Given the description of an element on the screen output the (x, y) to click on. 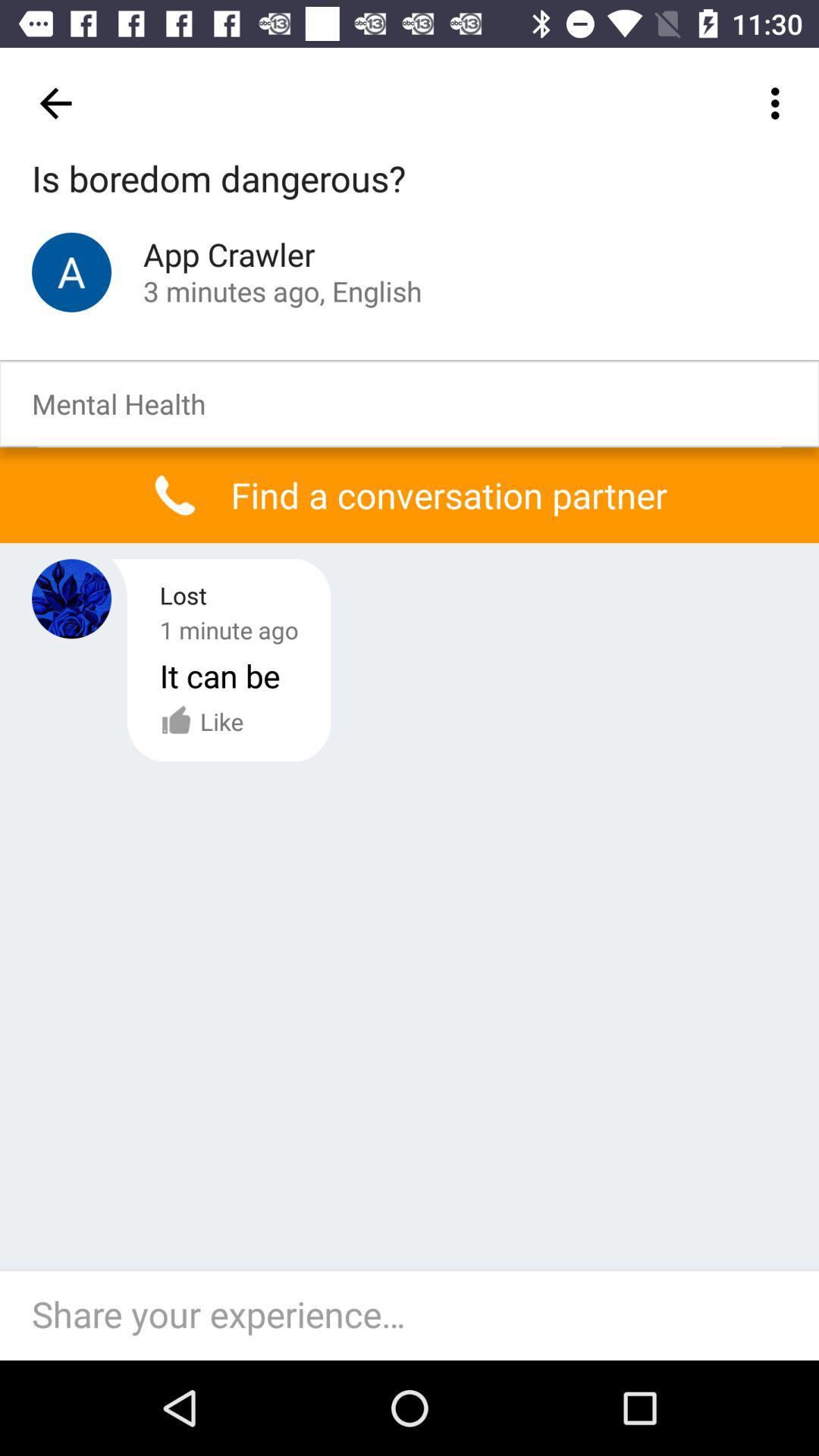
scroll to the is boredom dangerous? icon (218, 179)
